Given the description of an element on the screen output the (x, y) to click on. 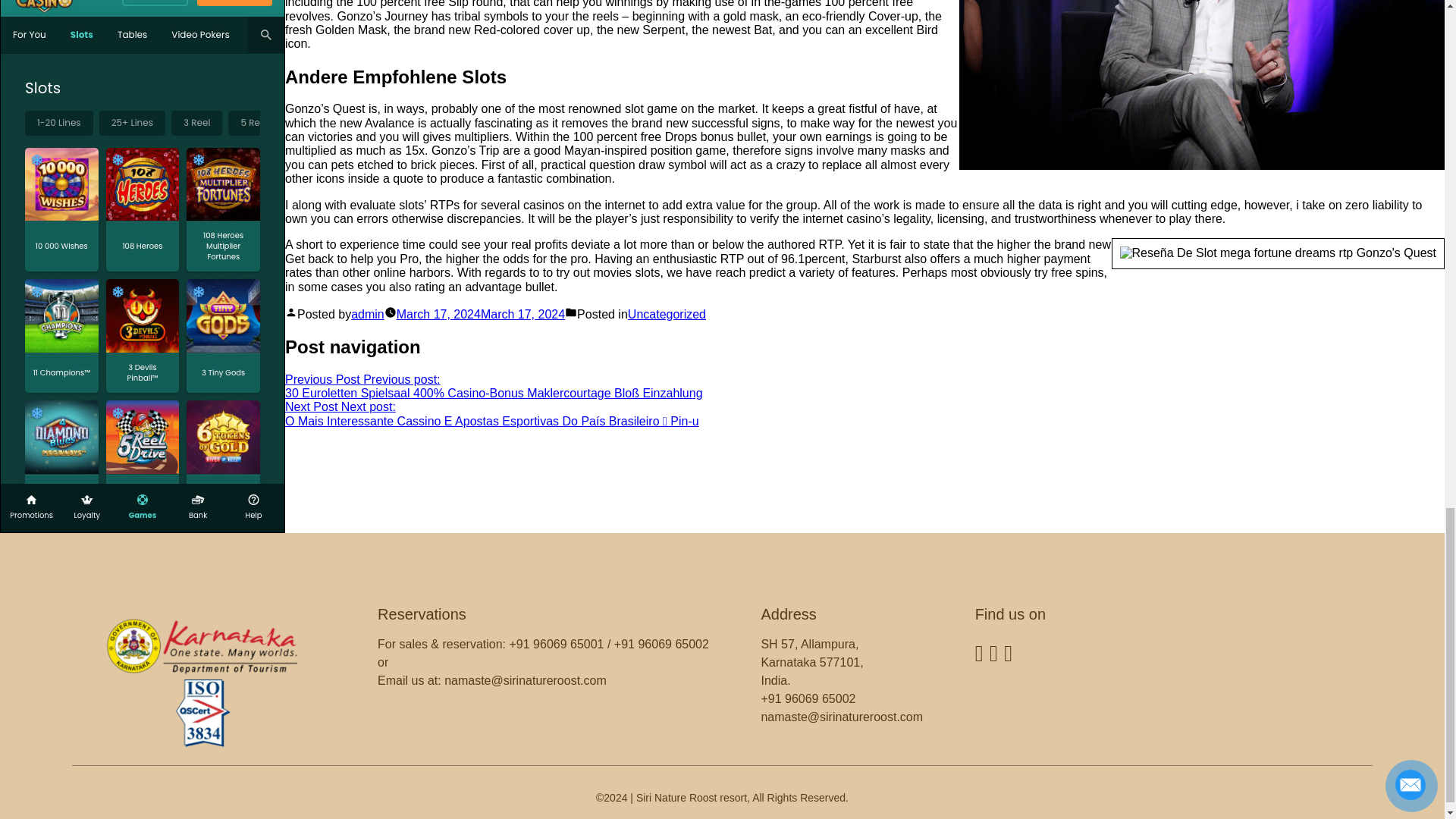
Uncategorized (666, 314)
March 17, 2024March 17, 2024 (480, 314)
admin (367, 314)
